Given the description of an element on the screen output the (x, y) to click on. 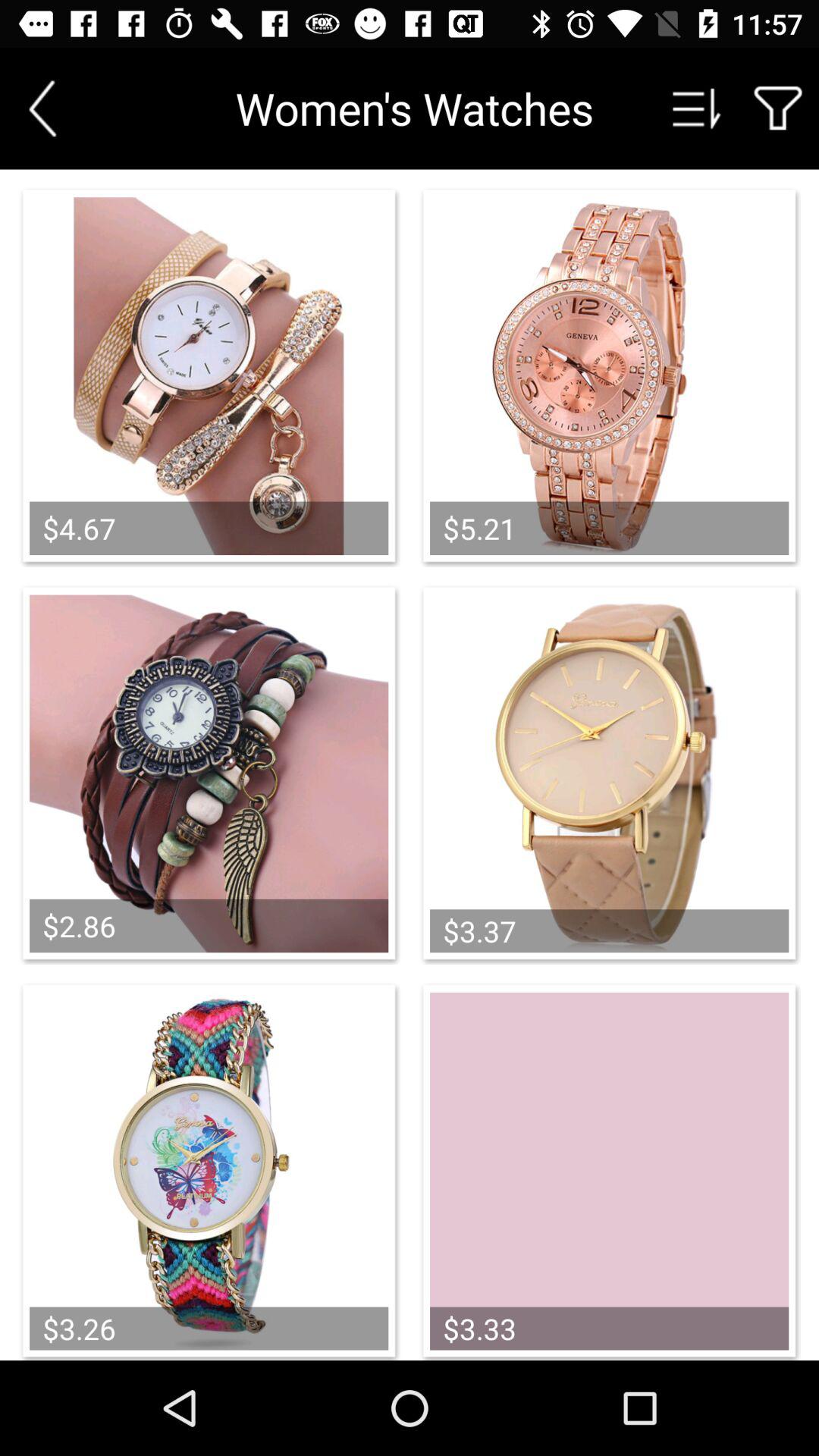
select filter options (778, 108)
